Given the description of an element on the screen output the (x, y) to click on. 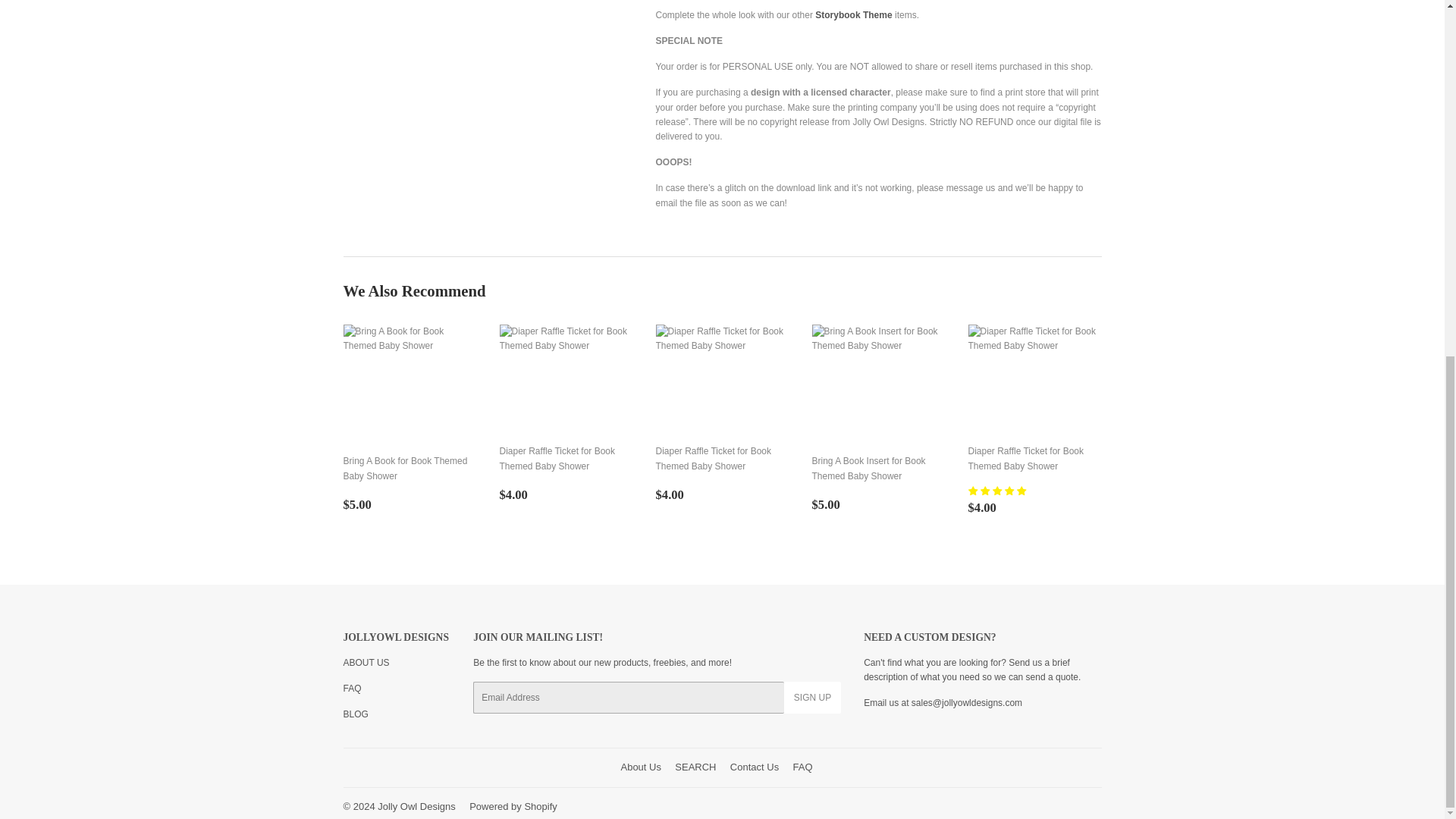
FREQUENTLY ASKED QUESTIONS (351, 688)
Contact Us (966, 702)
ABOUT US (365, 662)
